Given the description of an element on the screen output the (x, y) to click on. 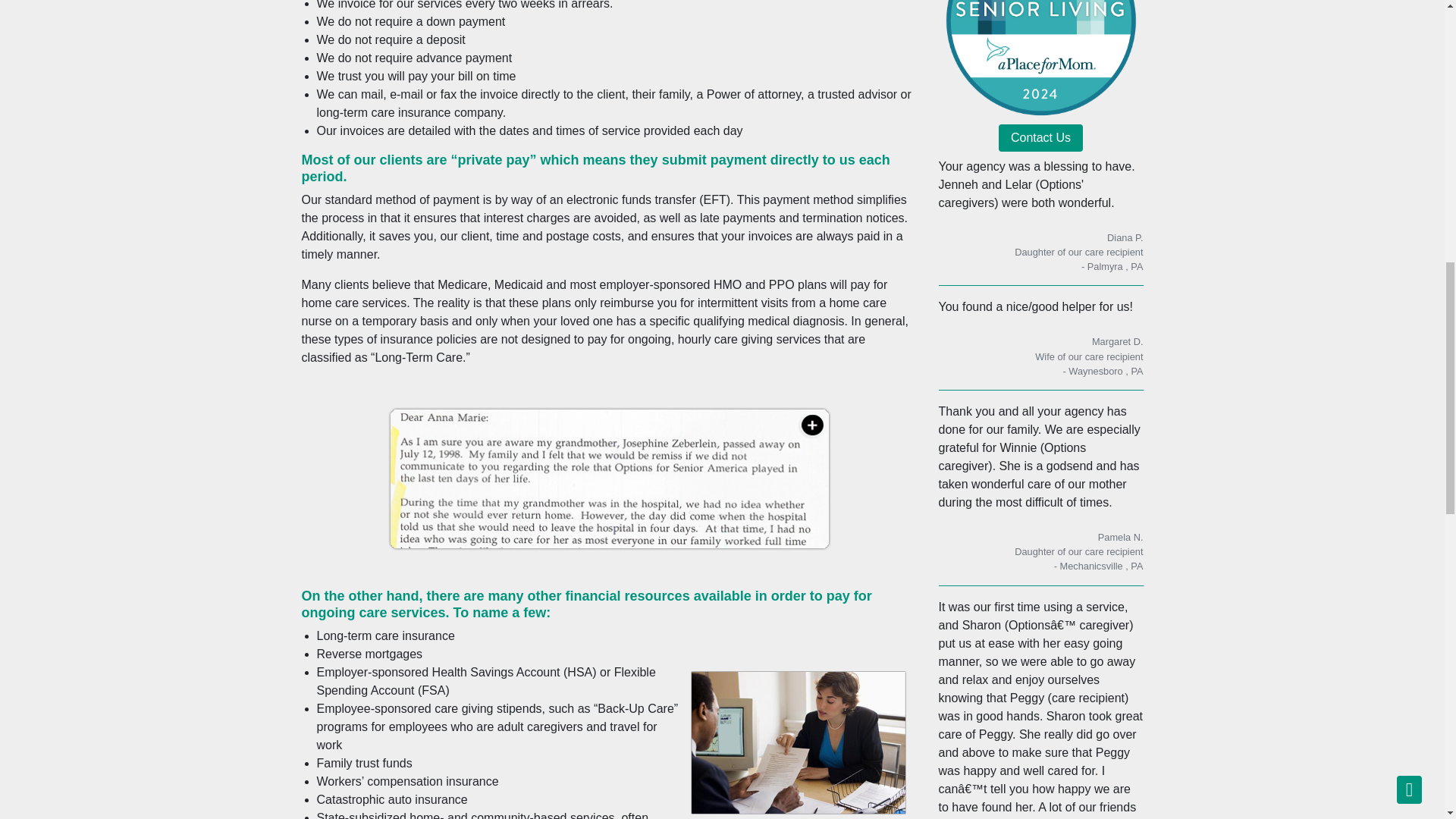
Contact Us (1040, 137)
